Given the description of an element on the screen output the (x, y) to click on. 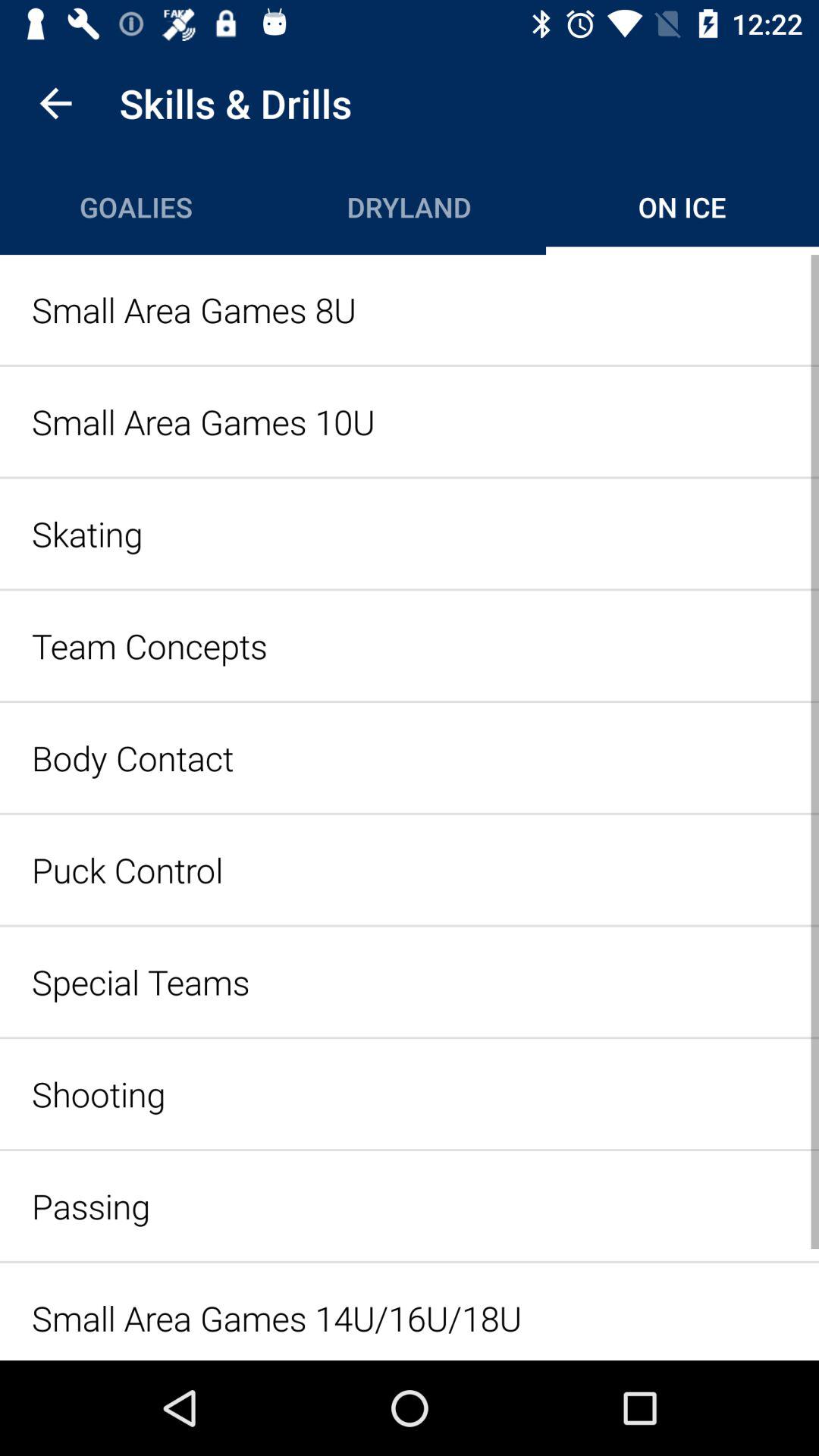
scroll to the skating (409, 533)
